Given the description of an element on the screen output the (x, y) to click on. 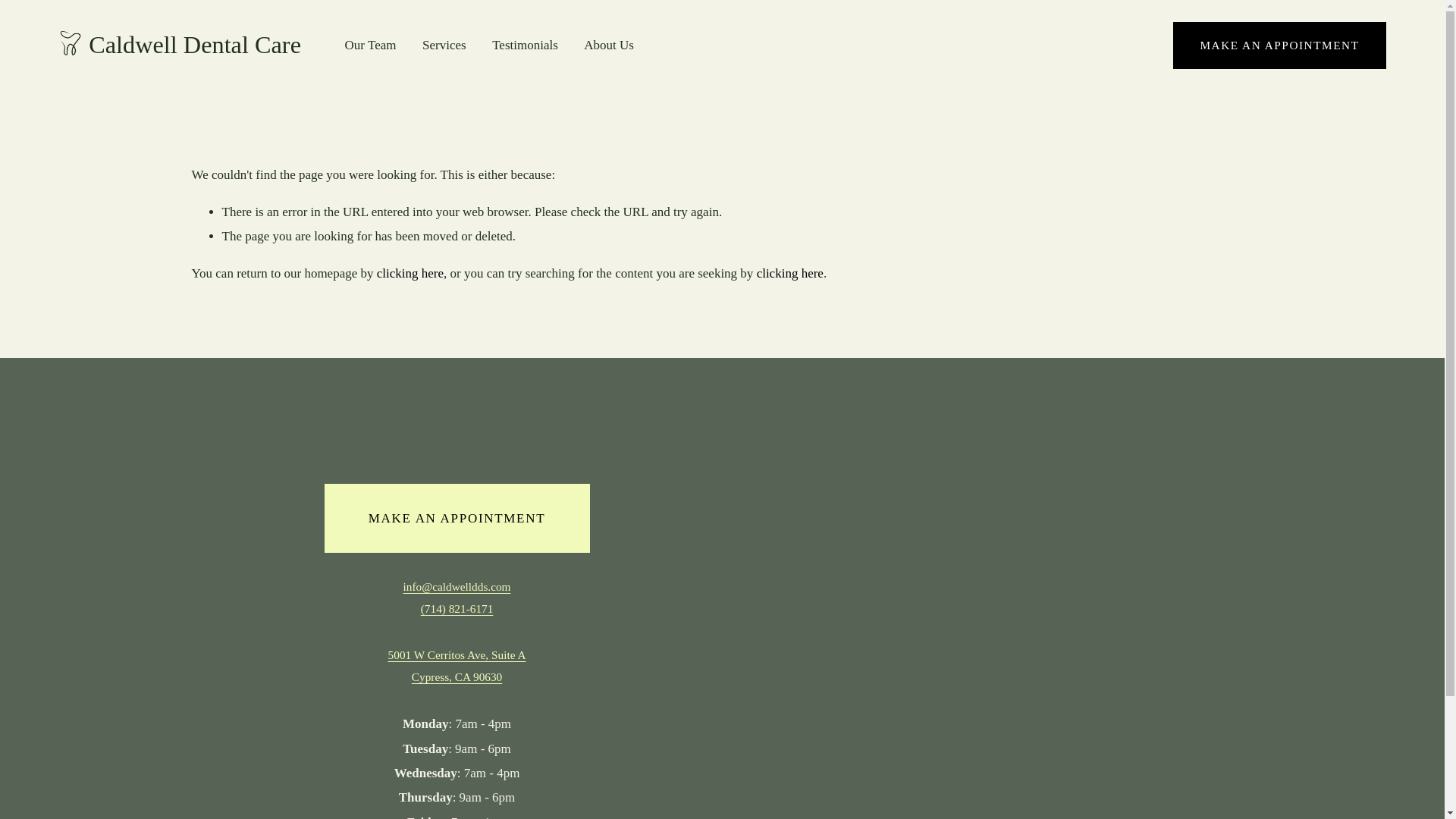
Testimonials (524, 44)
About Us (608, 44)
clicking here (410, 273)
clicking here (456, 665)
Our Team (790, 273)
MAKE AN APPOINTMENT (370, 44)
MAKE AN APPOINTMENT (456, 518)
Caldwell Dental Care (1279, 45)
Services (179, 44)
